Given the description of an element on the screen output the (x, y) to click on. 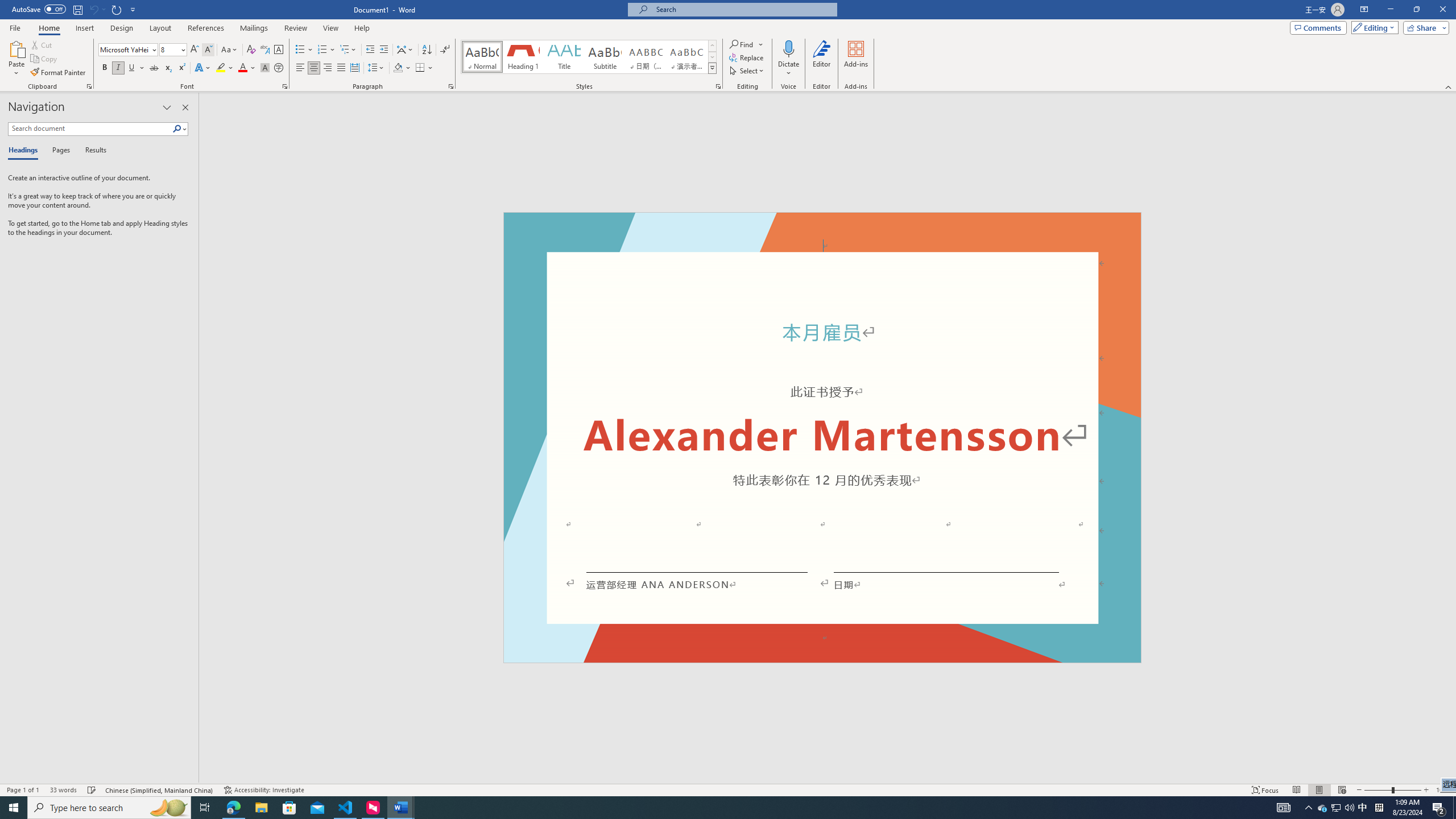
System (6, 6)
Page Number Page 1 of 1 (22, 790)
References (205, 28)
Align Left (300, 67)
Shading (402, 67)
Ribbon Display Options (1364, 9)
Bold (104, 67)
Underline (136, 67)
Distributed (354, 67)
Share (1423, 27)
Font Color (246, 67)
Align Right (327, 67)
